Given the description of an element on the screen output the (x, y) to click on. 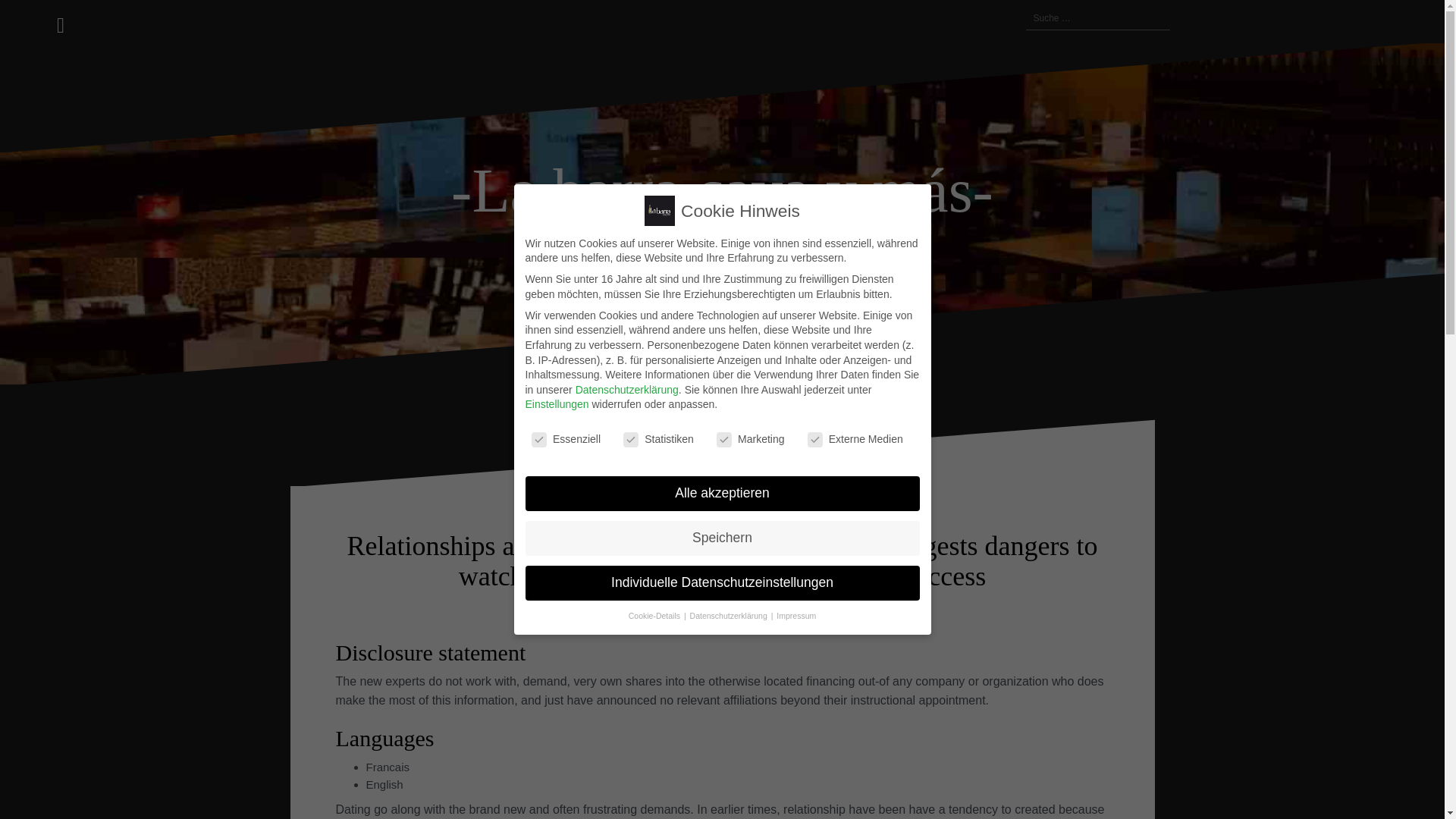
LINKS (970, 17)
IMPRESSUM (1006, 17)
Stefan (621, 610)
Suche (28, 20)
PRESSE (951, 17)
3. April 2024 (565, 610)
